Given the description of an element on the screen output the (x, y) to click on. 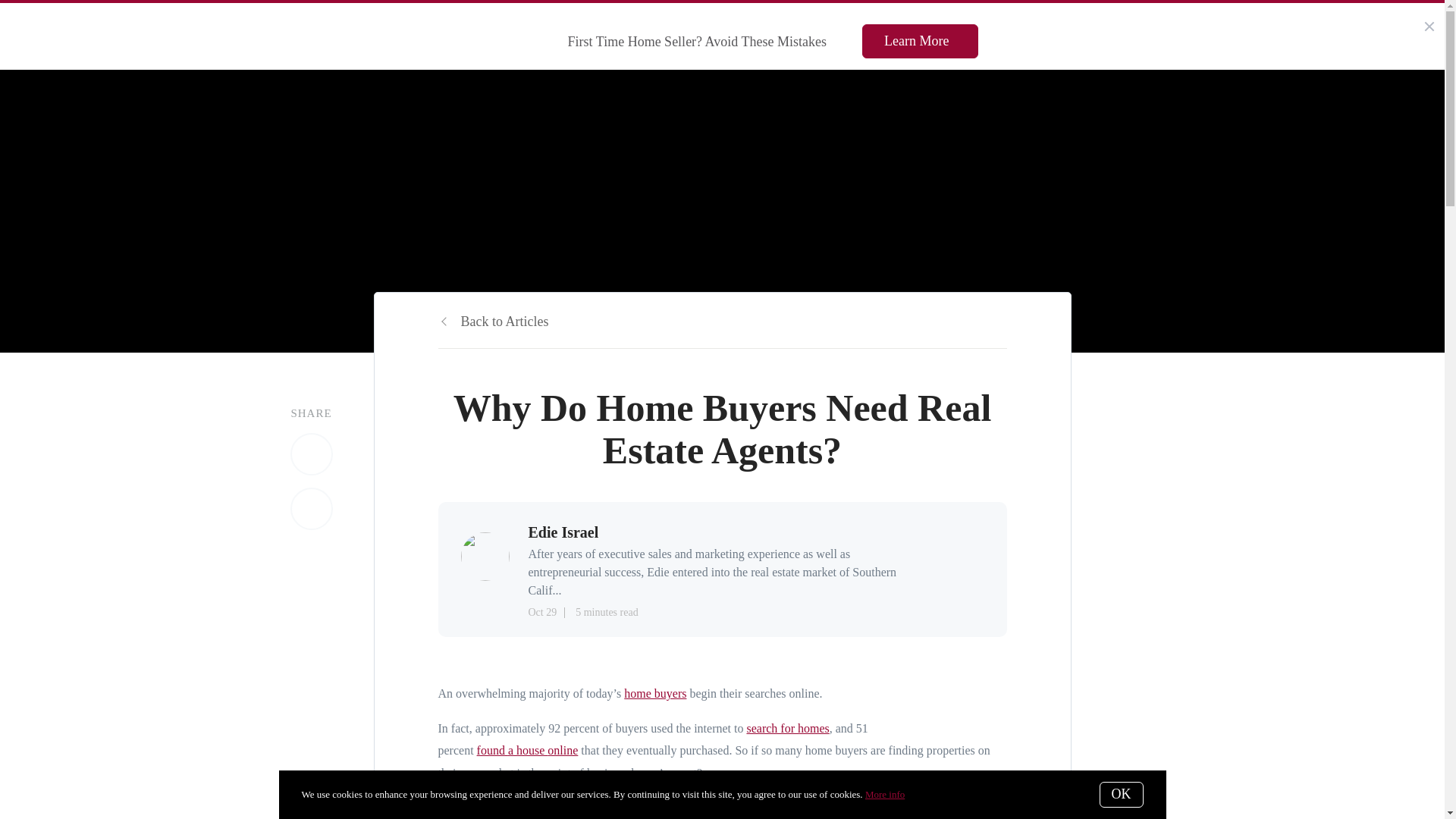
Learn More (919, 41)
